Given the description of an element on the screen output the (x, y) to click on. 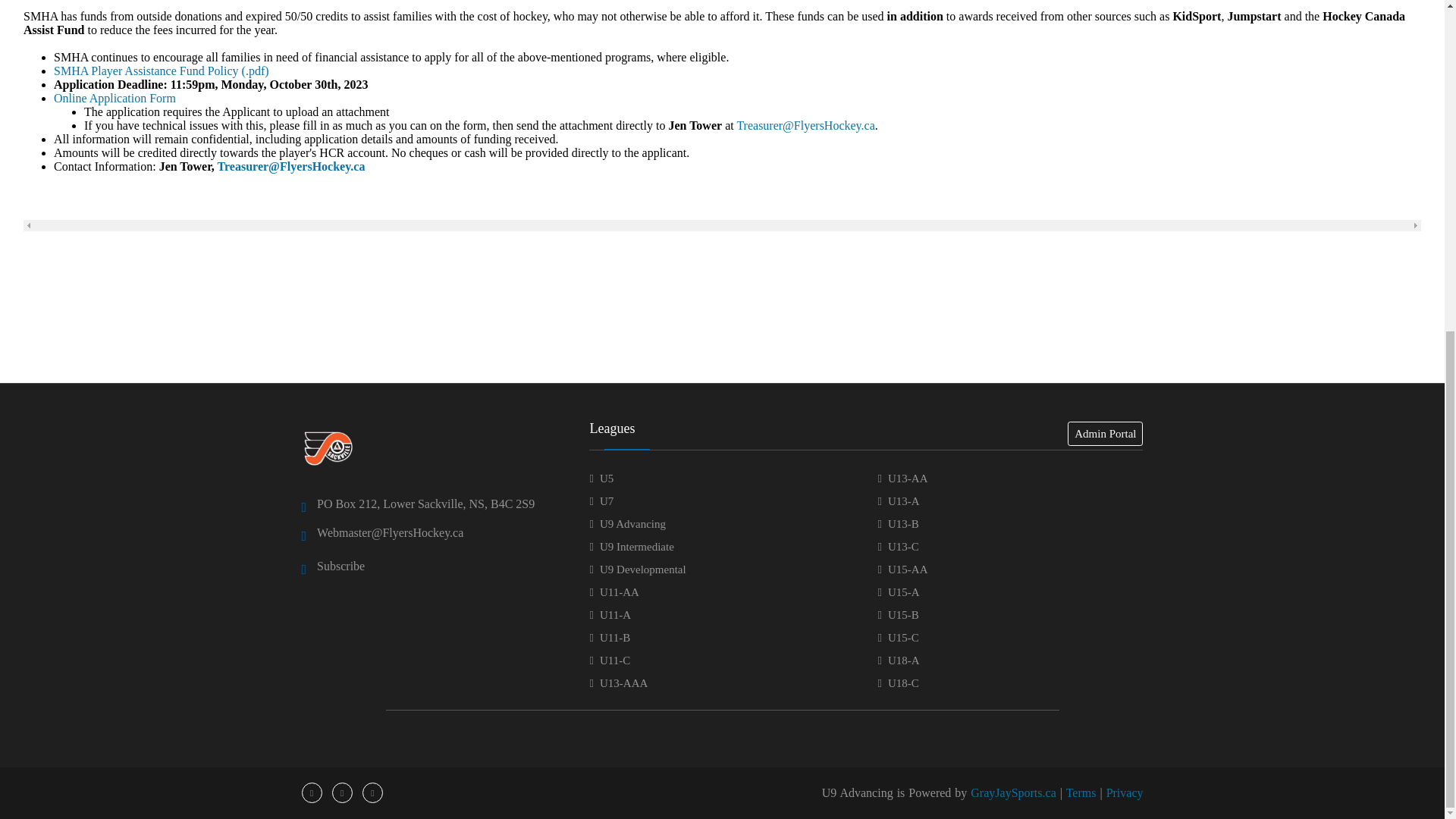
Facebook (310, 792)
Twitter (342, 792)
Instagram (371, 792)
